Given the description of an element on the screen output the (x, y) to click on. 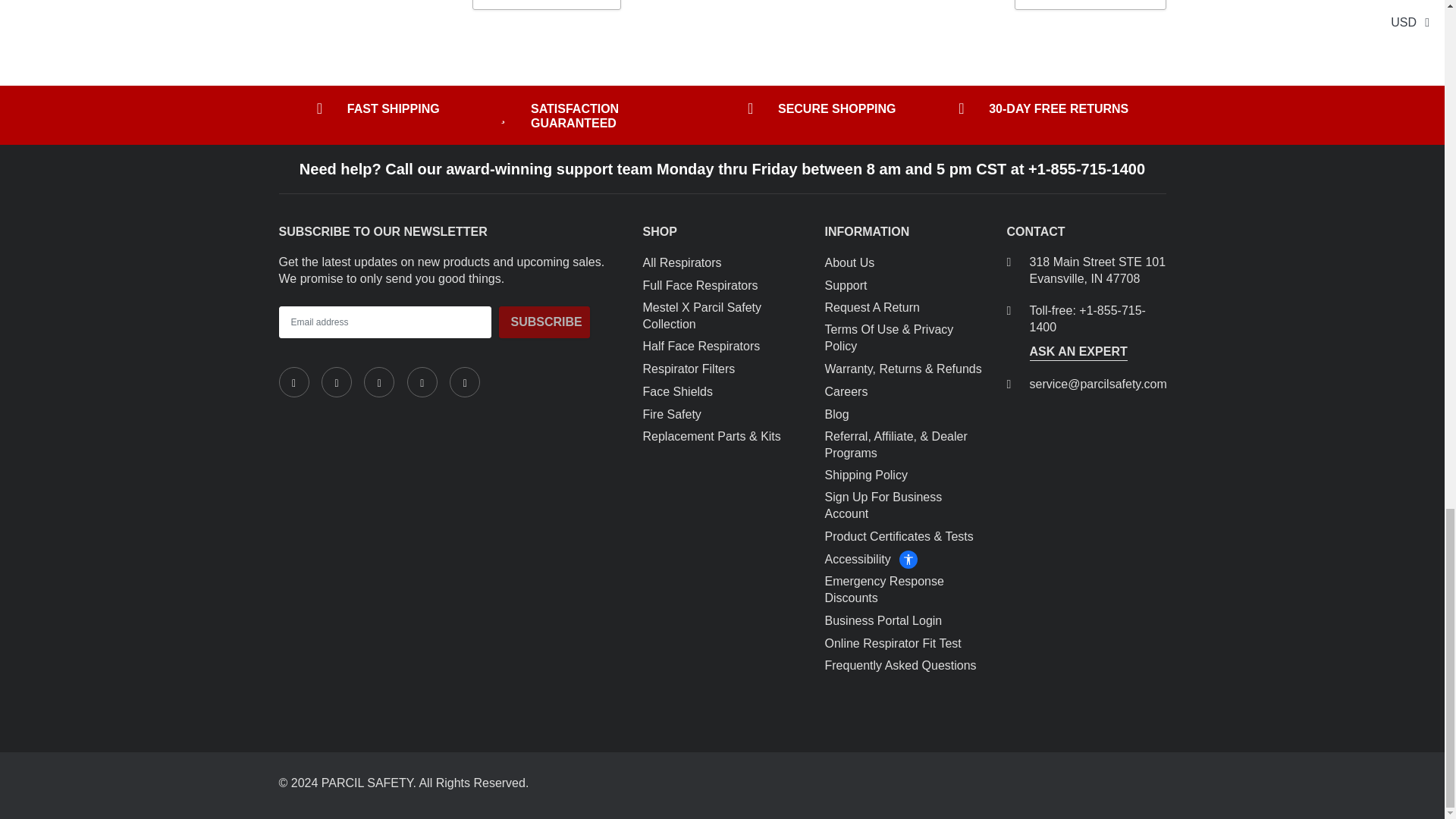
Subscribe (544, 322)
YouTube (464, 381)
Instagram (379, 381)
Facebook (293, 381)
Twitter (336, 381)
Pinterest (422, 381)
